Given the description of an element on the screen output the (x, y) to click on. 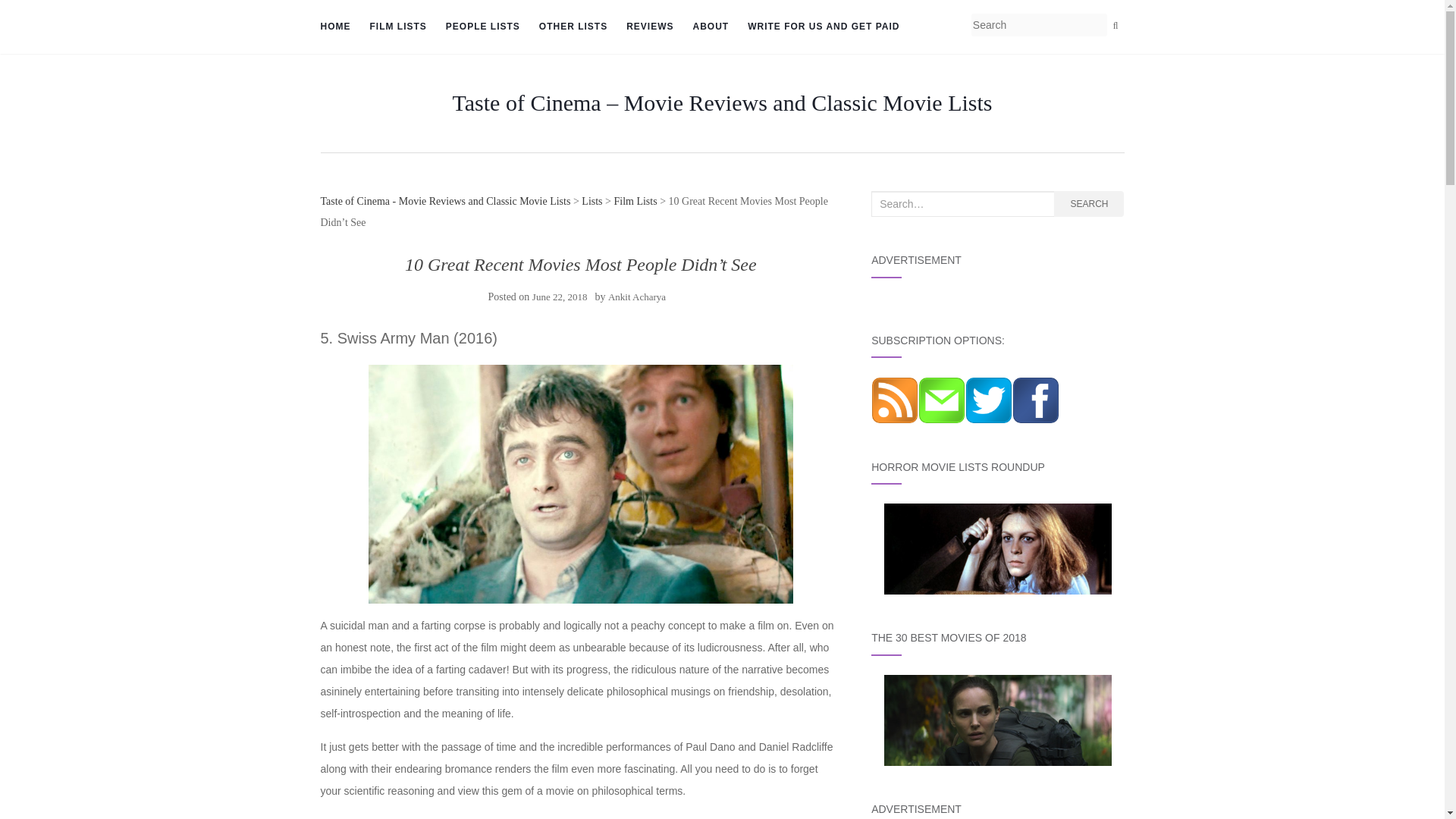
FILM LISTS (397, 27)
WRITE FOR US AND GET PAID (823, 27)
Taste of Cinema - Movie Reviews and Classic Movie Lists (445, 201)
Reviews (649, 27)
Search for: (962, 203)
Go to the Film Lists category archives. (634, 201)
PEOPLE LISTS (482, 27)
Search (1115, 25)
Film Lists (397, 27)
Write For Us and Get Paid (823, 27)
Home (335, 27)
Lists (591, 201)
Ankit Acharya (636, 296)
Subscribe via RSS (894, 398)
